Given the description of an element on the screen output the (x, y) to click on. 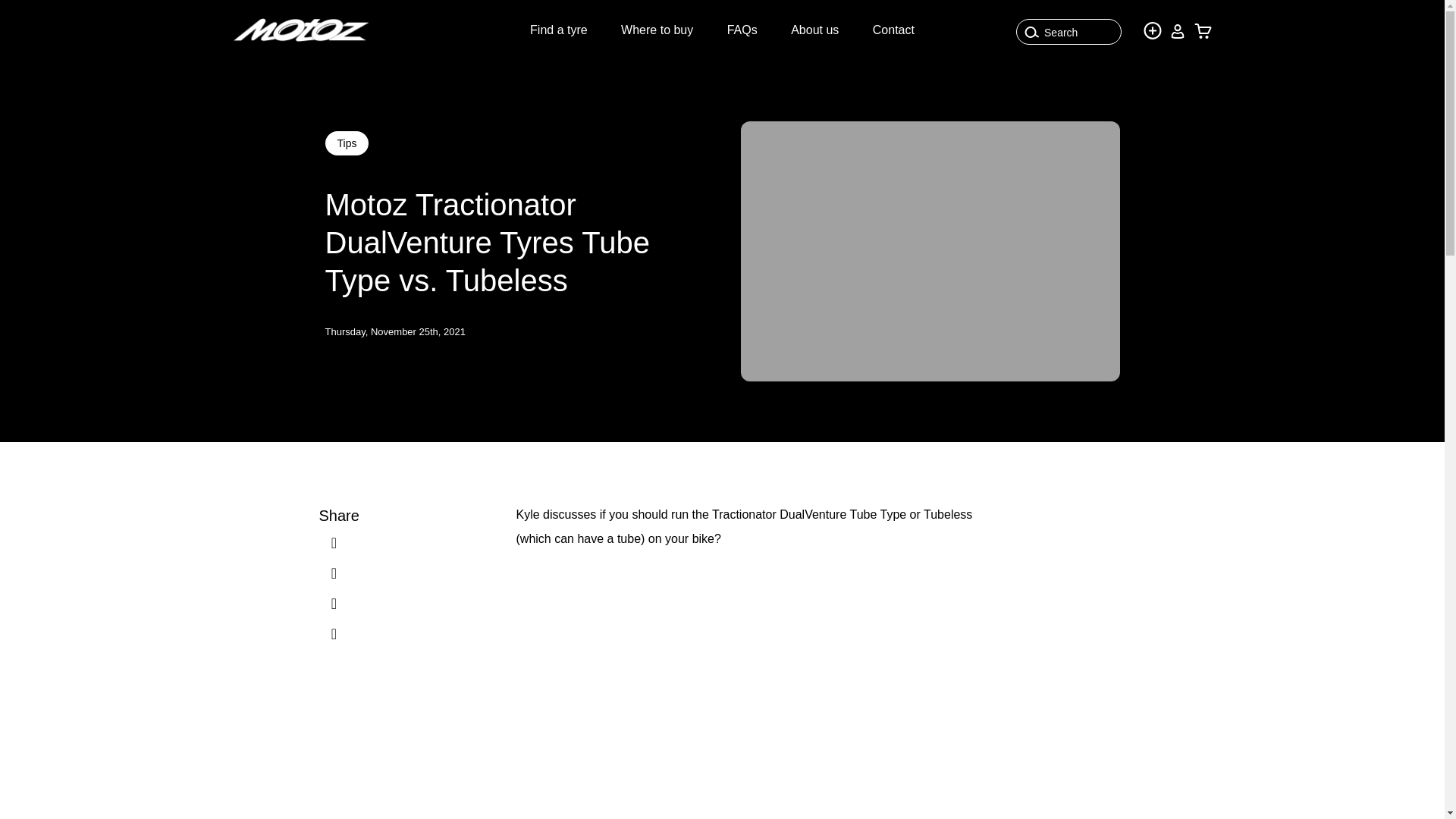
Find a tyre (558, 30)
Contact (893, 30)
Where to buy (656, 30)
Motoz (300, 30)
FAQs (742, 30)
About us (814, 30)
